Given the description of an element on the screen output the (x, y) to click on. 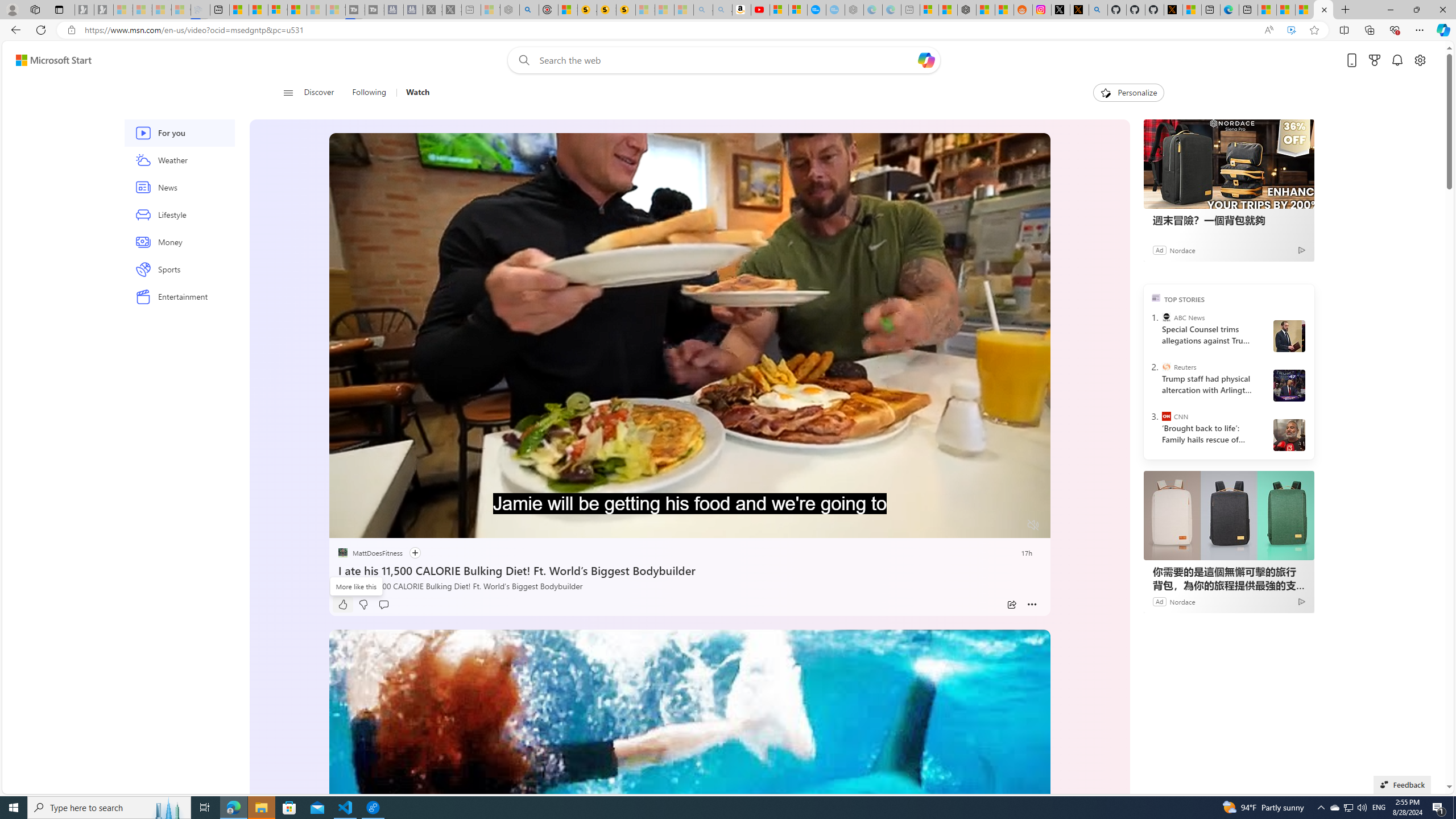
Day 1: Arriving in Yemen (surreal to be here) - YouTube (759, 9)
Watch (412, 92)
Enhance video (1291, 29)
poe - Search (529, 9)
Seek Back (368, 525)
Like (342, 604)
Wildlife - MSN - Sleeping (490, 9)
Overview (277, 9)
amazon - Search - Sleeping (702, 9)
Streaming Coverage | T3 - Sleeping (354, 9)
The most popular Google 'how to' searches - Sleeping (835, 9)
